Given the description of an element on the screen output the (x, y) to click on. 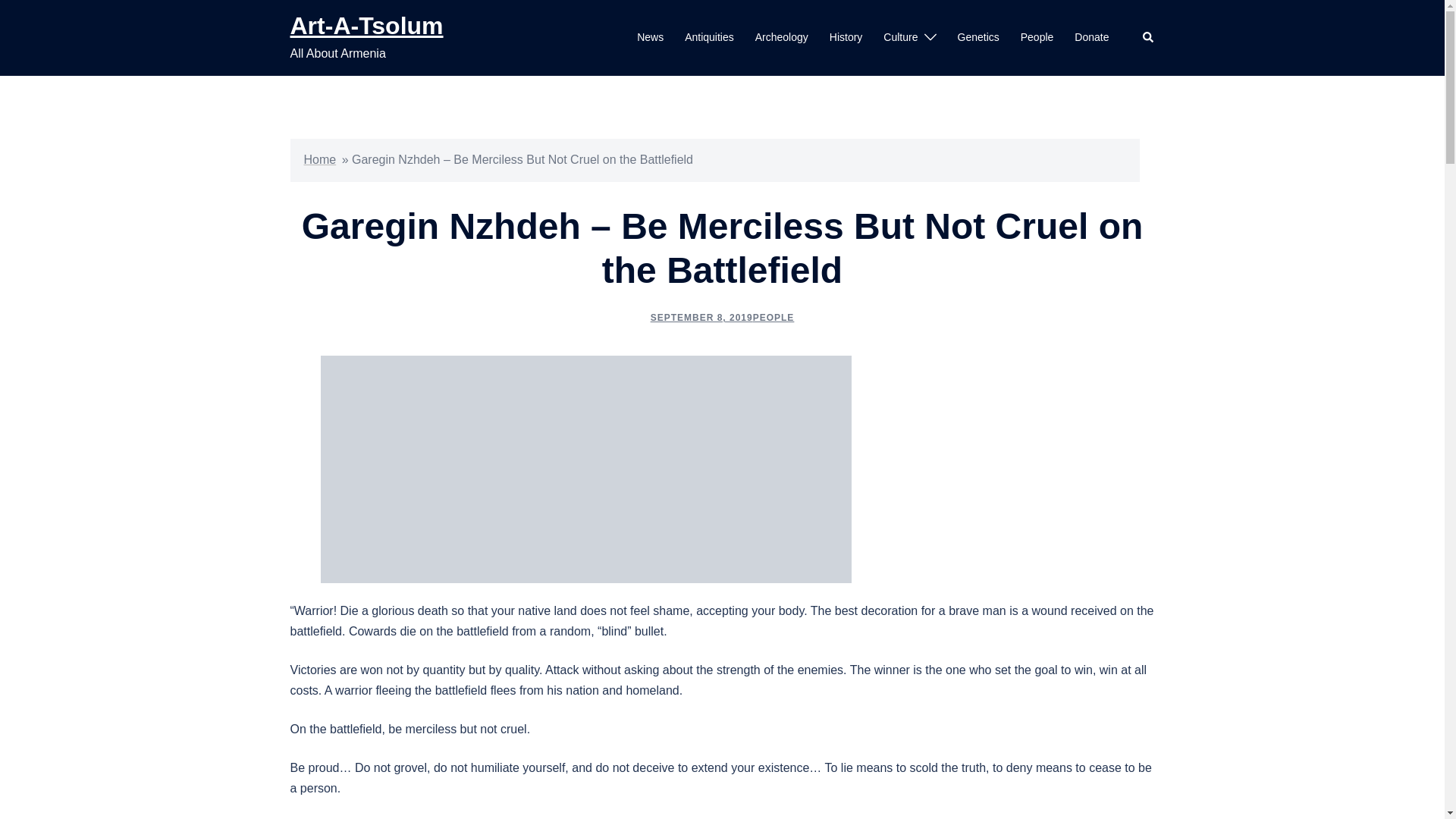
Donate (1091, 37)
News (650, 37)
Genetics (977, 37)
Art-A-Tsolum (365, 25)
History (846, 37)
Antiquities (708, 37)
Search (1147, 37)
SEPTEMBER 8, 2019 (701, 317)
PEOPLE (773, 317)
Home (319, 159)
